Given the description of an element on the screen output the (x, y) to click on. 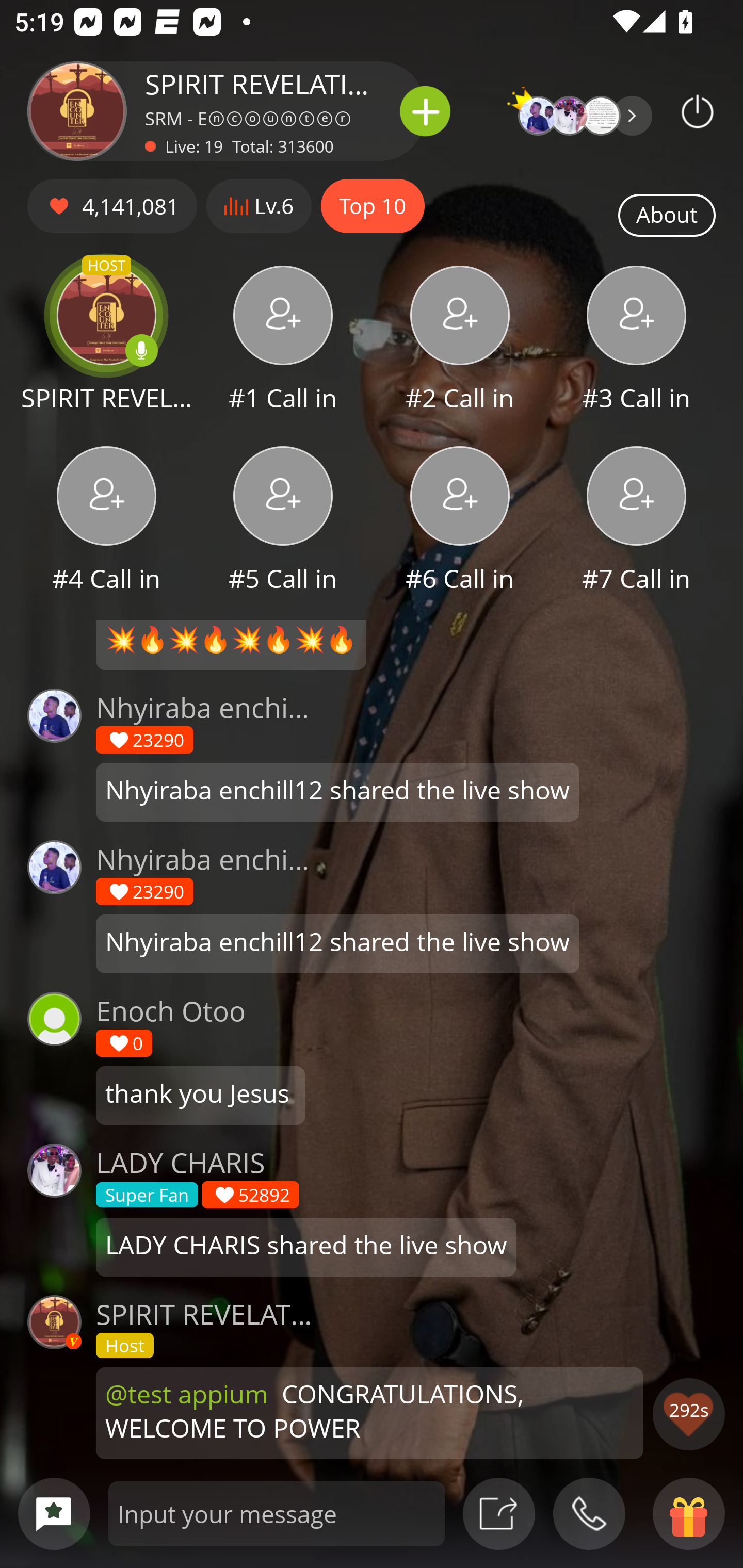
Podbean (697, 111)
About (666, 215)
HOST SPIRIT REVELATION MINISTRIES (105, 340)
#1 Call in (282, 340)
#2 Call in (459, 340)
#3 Call in (636, 340)
#4 Call in (105, 521)
#5 Call in (282, 521)
#6 Call in (459, 521)
#7 Call in (636, 521)
Input your message (276, 1513)
